Given the description of an element on the screen output the (x, y) to click on. 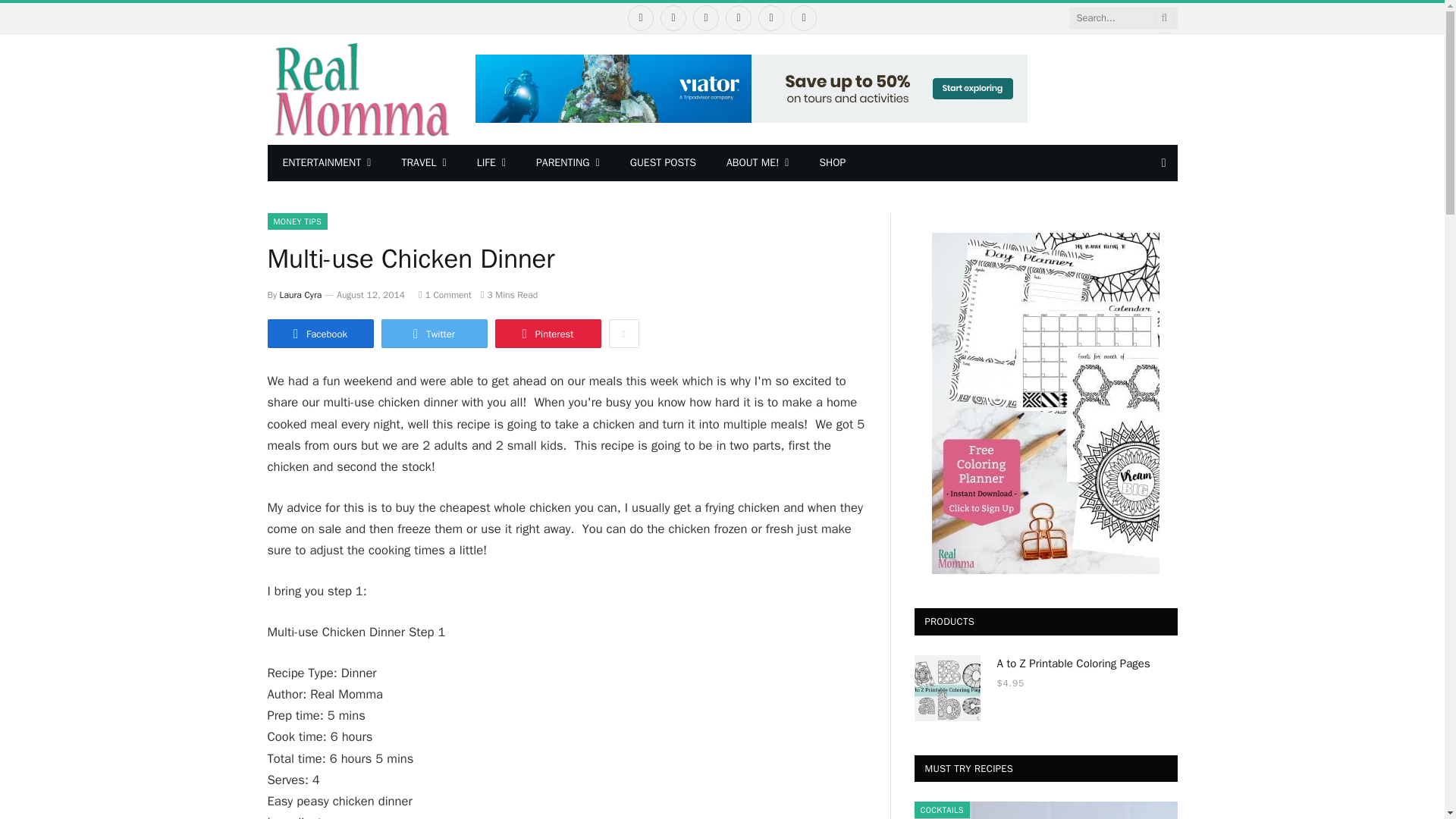
YouTube (771, 17)
TRAVEL (423, 162)
ENTERTAINMENT (325, 162)
Facebook (640, 17)
Pinterest (738, 17)
Real Momma (358, 89)
Instagram (706, 17)
RSS (803, 17)
